Given the description of an element on the screen output the (x, y) to click on. 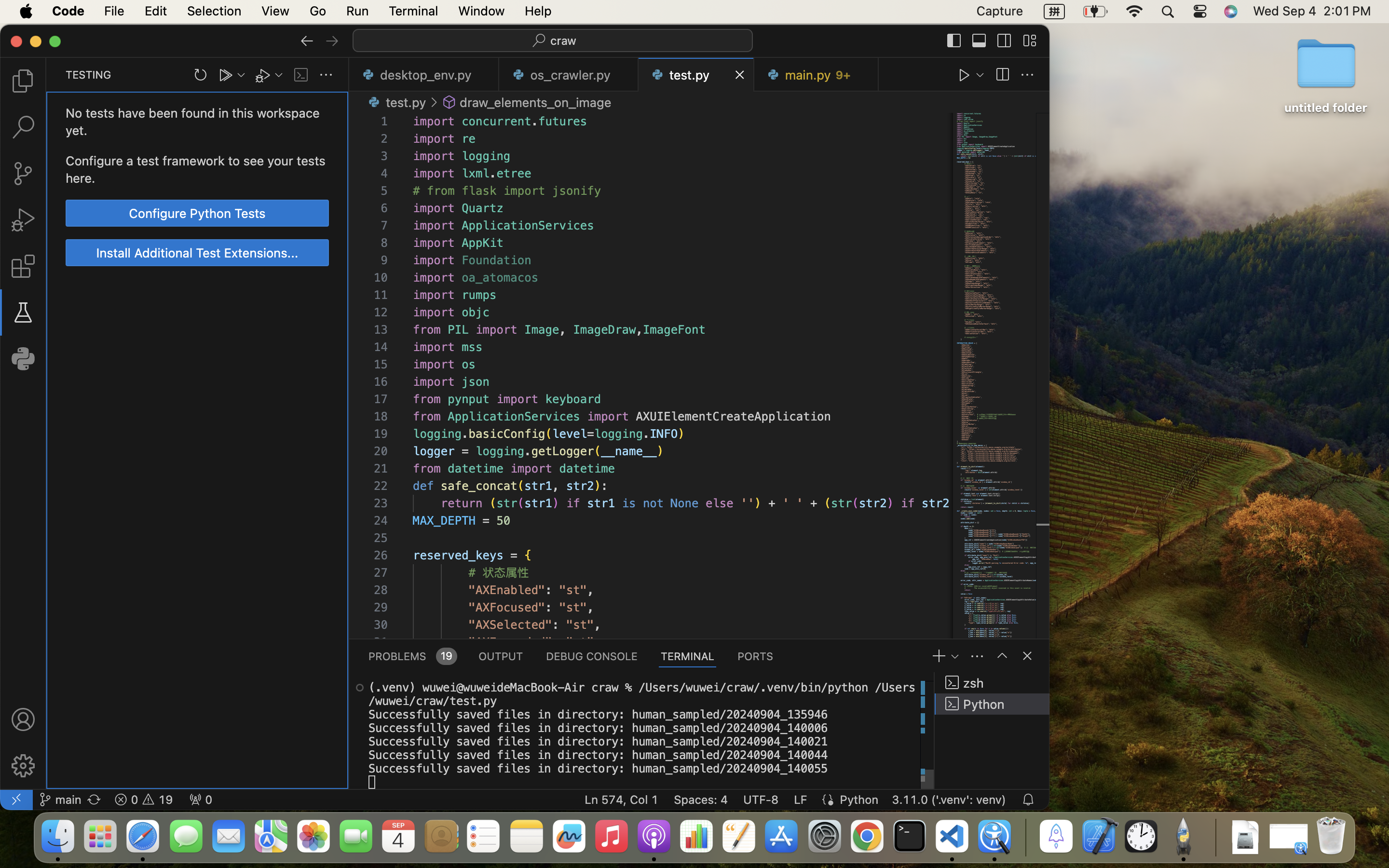
0.4285714328289032 Element type: AXDockItem (1024, 836)
craw Element type: AXStaticText (563, 40)
 Element type: AXGroup (23, 266)
1 TERMINAL Element type: AXRadioButton (687, 655)
 Element type: AXCheckBox (1003, 40)
